Given the description of an element on the screen output the (x, y) to click on. 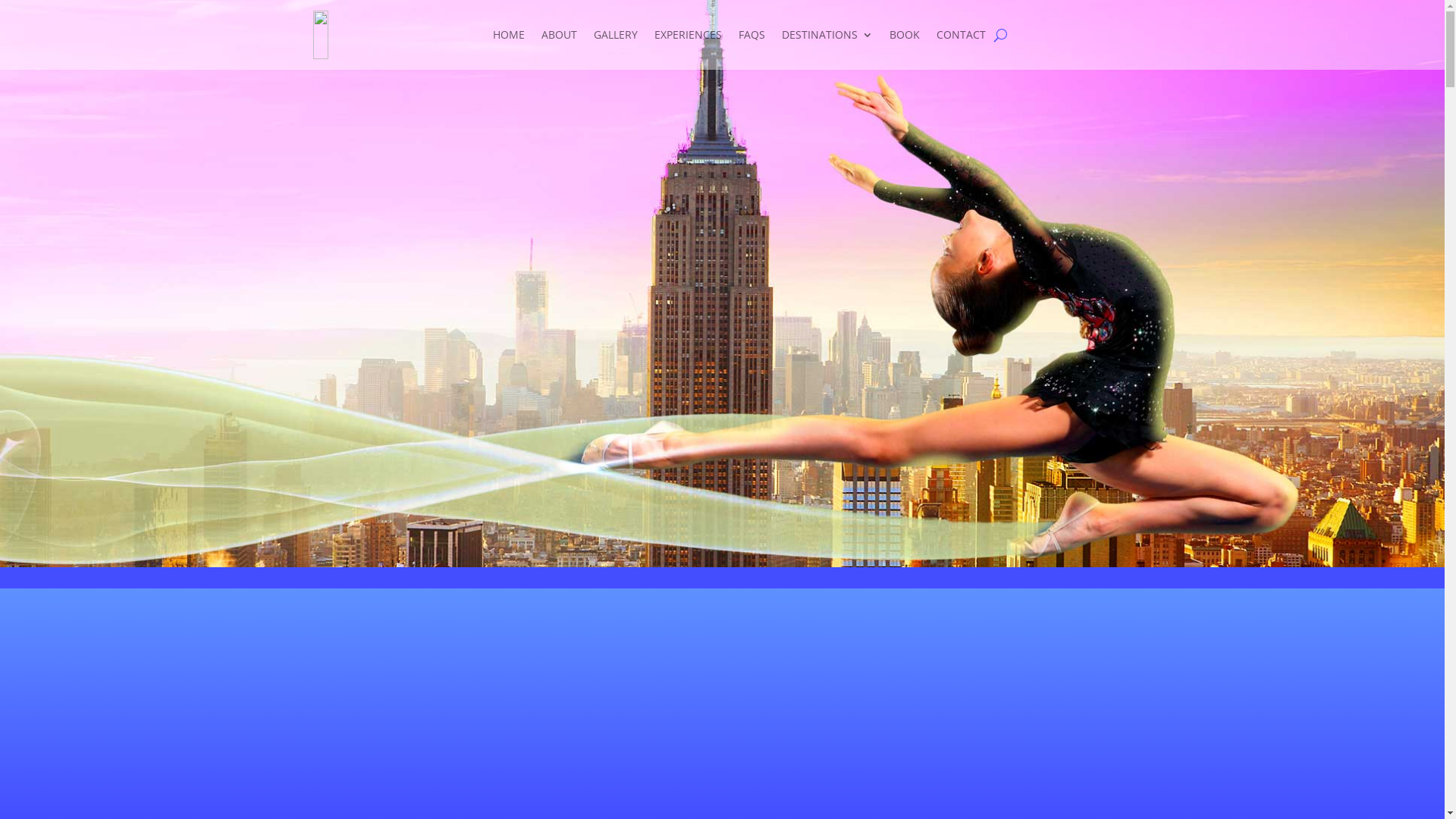
GALLERY Element type: text (615, 34)
DESTINATIONS Element type: text (826, 34)
HOME Element type: text (508, 34)
EXPERIENCES Element type: text (687, 34)
ABOUT Element type: text (559, 34)
FAQS Element type: text (751, 34)
CONTACT Element type: text (960, 34)
BOOK Element type: text (904, 34)
